Given the description of an element on the screen output the (x, y) to click on. 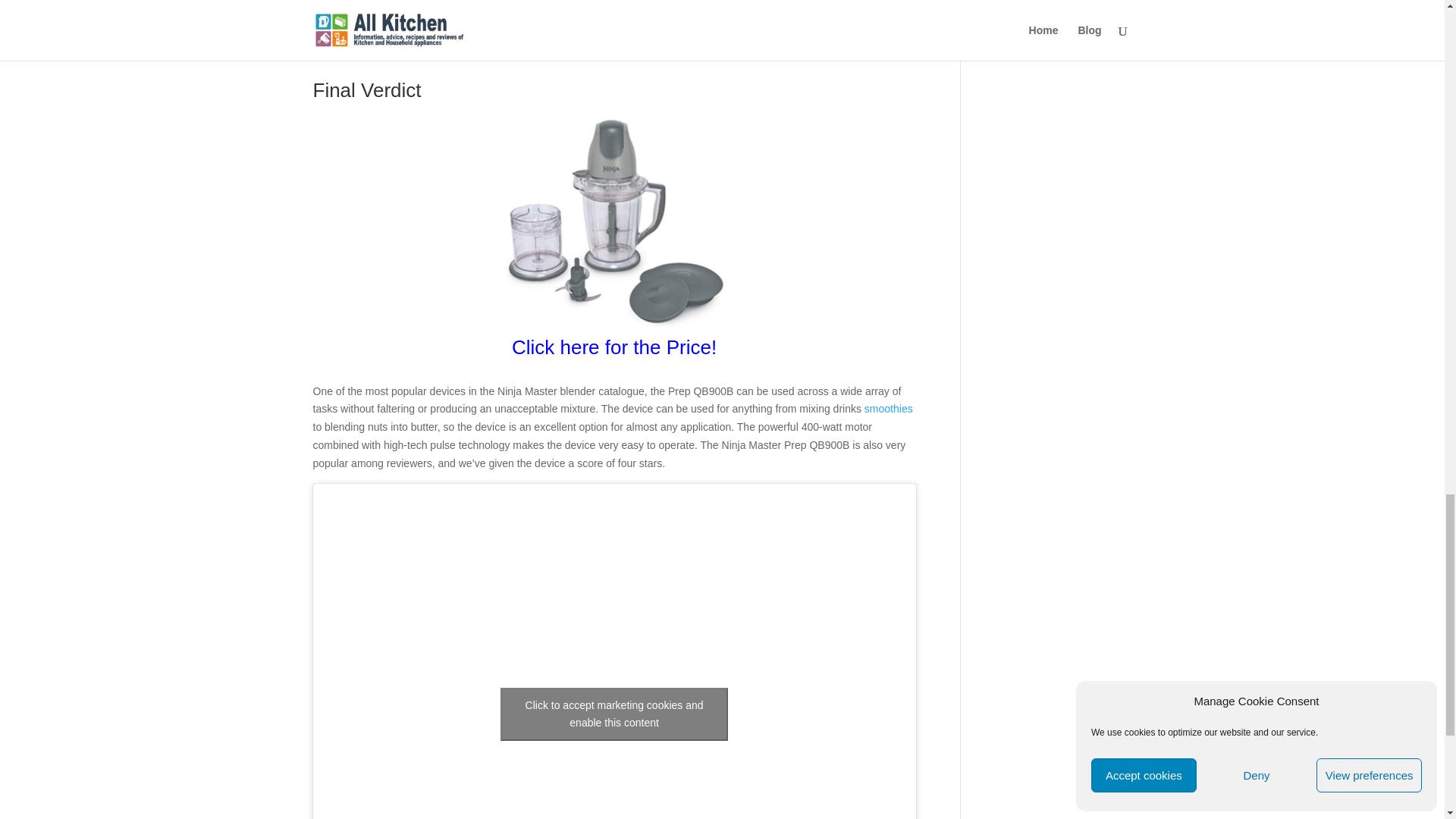
Click to accept marketing cookies and enable this content (614, 713)
Click here for the Price! (614, 350)
smoothies (888, 408)
